Given the description of an element on the screen output the (x, y) to click on. 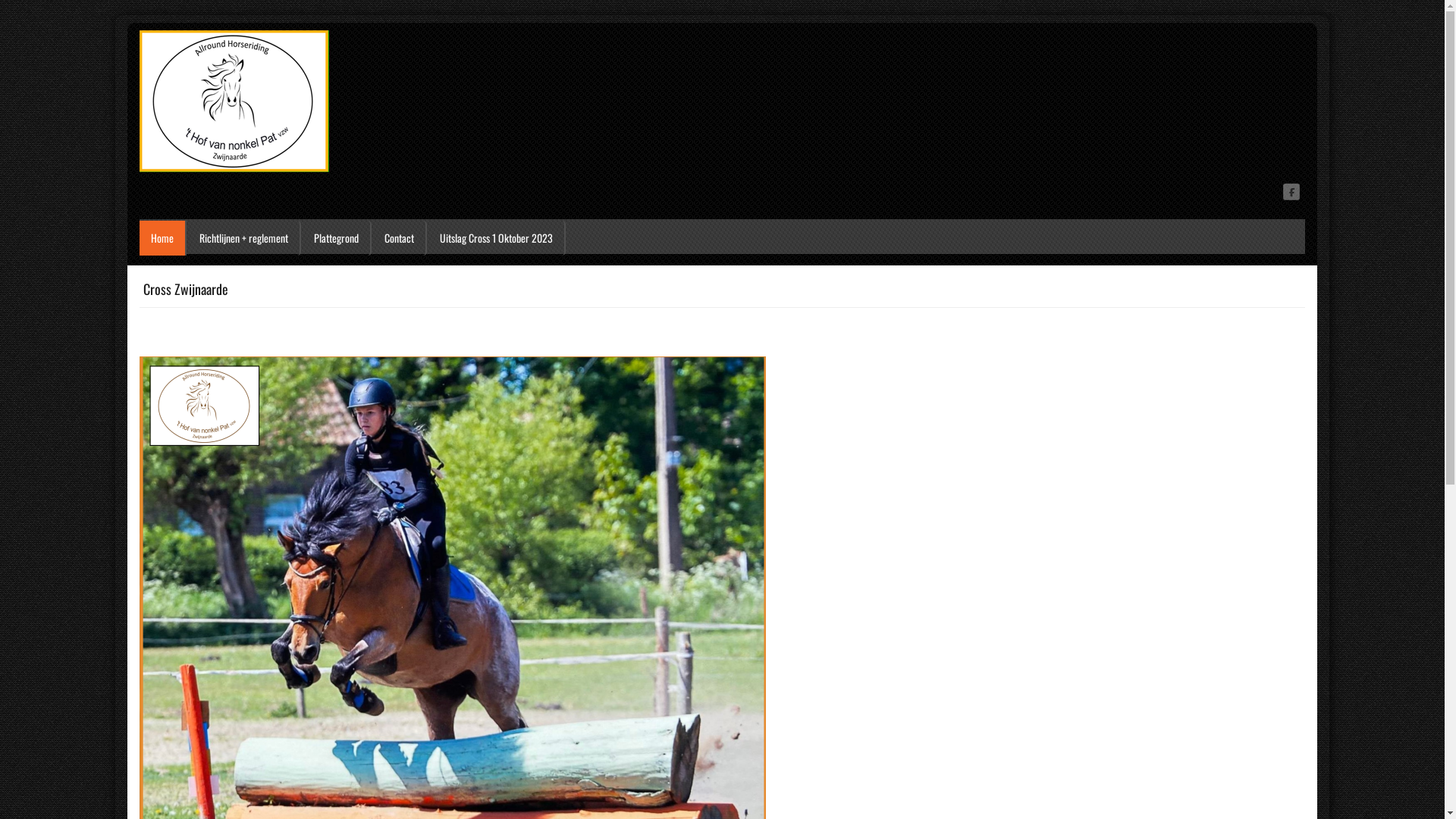
Facebook Element type: hover (1291, 191)
Richtlijnen + reglement Element type: text (244, 237)
Plattegrond Element type: text (336, 237)
Contact Element type: text (399, 237)
Home Element type: text (162, 237)
Uitslag Cross 1 Oktober 2023 Element type: text (496, 237)
